Given the description of an element on the screen output the (x, y) to click on. 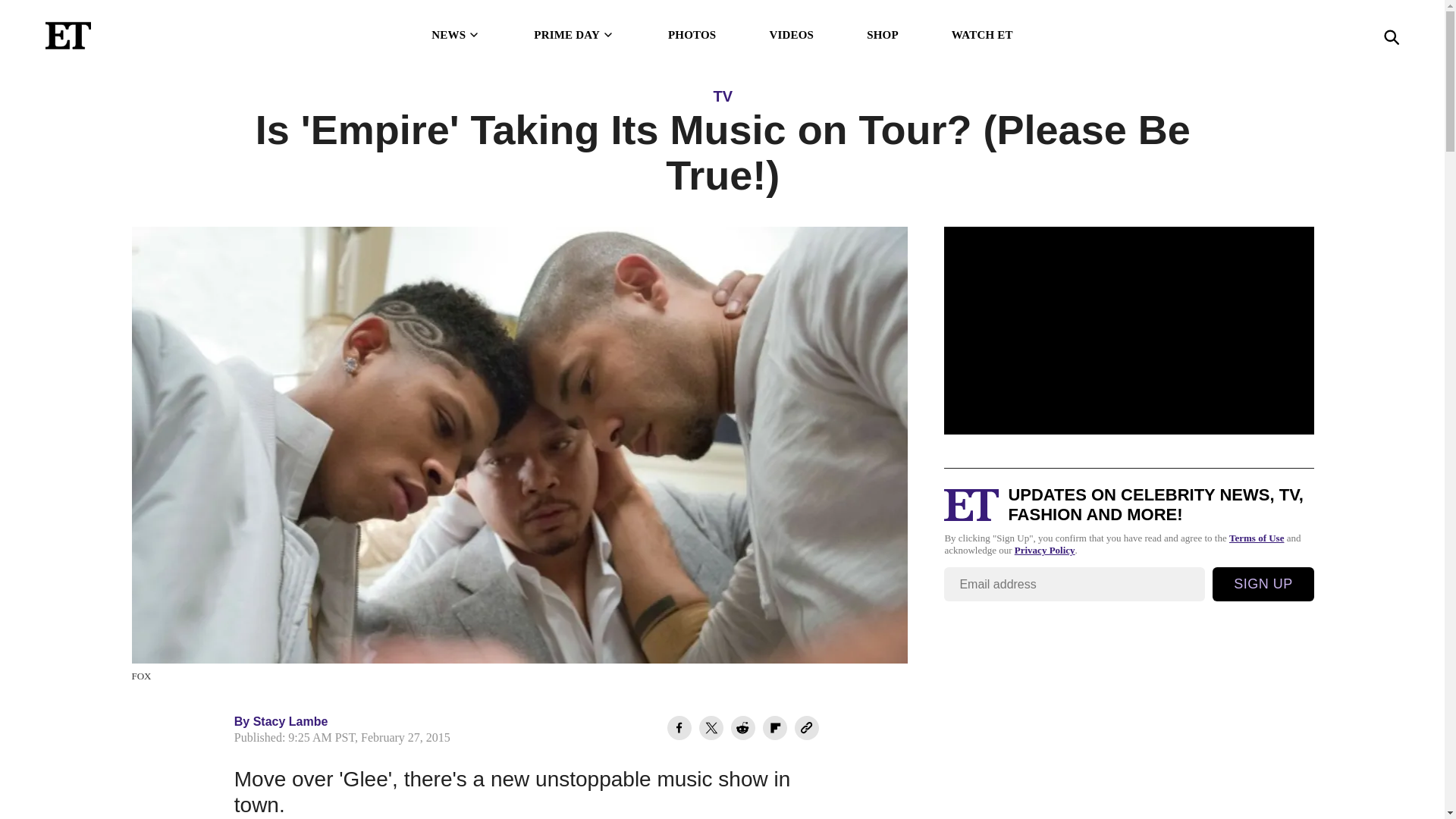
TV (722, 95)
PHOTOS (692, 34)
SHOP (882, 34)
WATCH ET (982, 34)
VIDEOS (790, 34)
PRIME DAY (574, 34)
NEWS (455, 34)
